Given the description of an element on the screen output the (x, y) to click on. 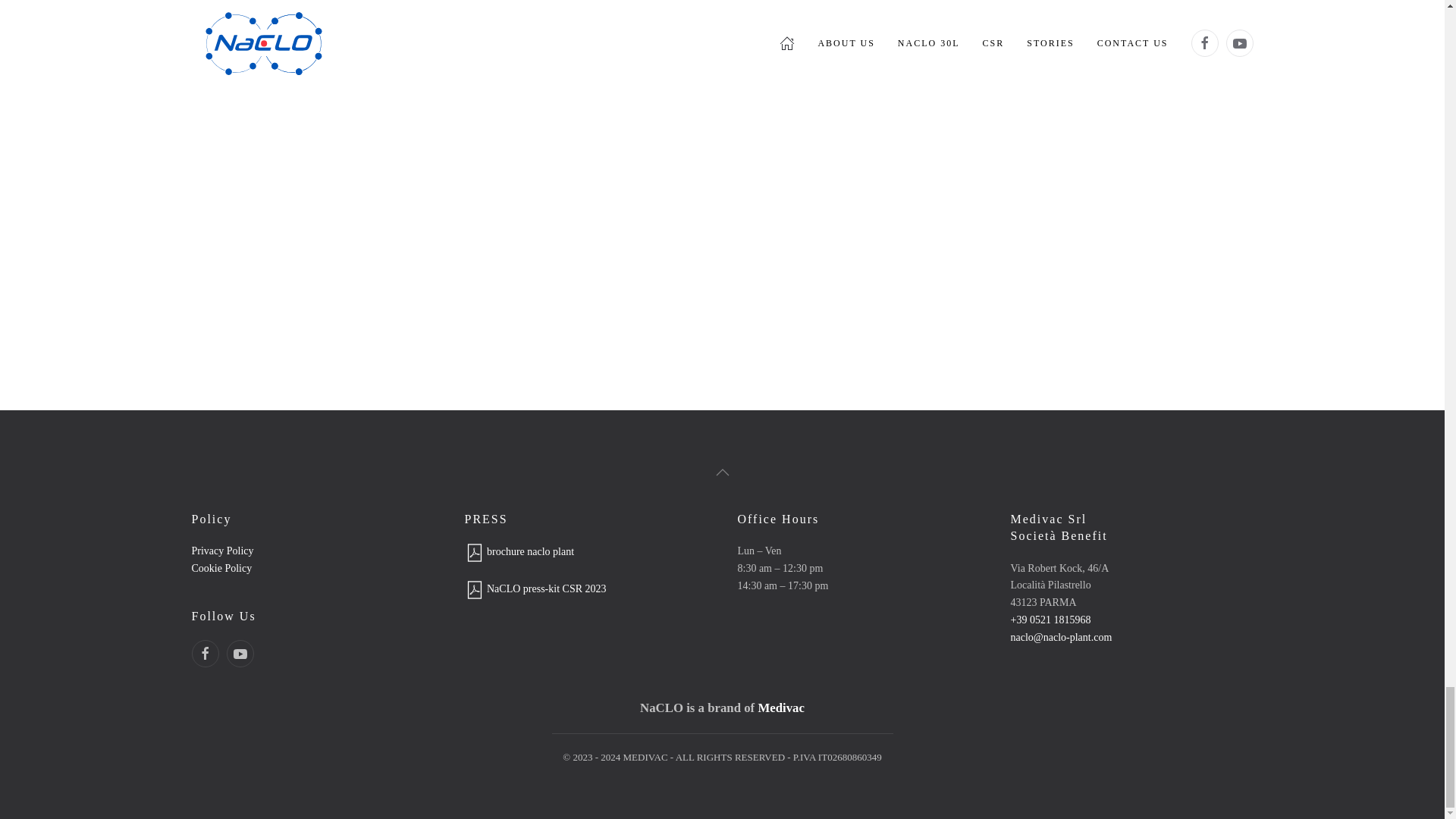
Privacy Policy  (221, 550)
Cookie Policy  (220, 568)
